Given the description of an element on the screen output the (x, y) to click on. 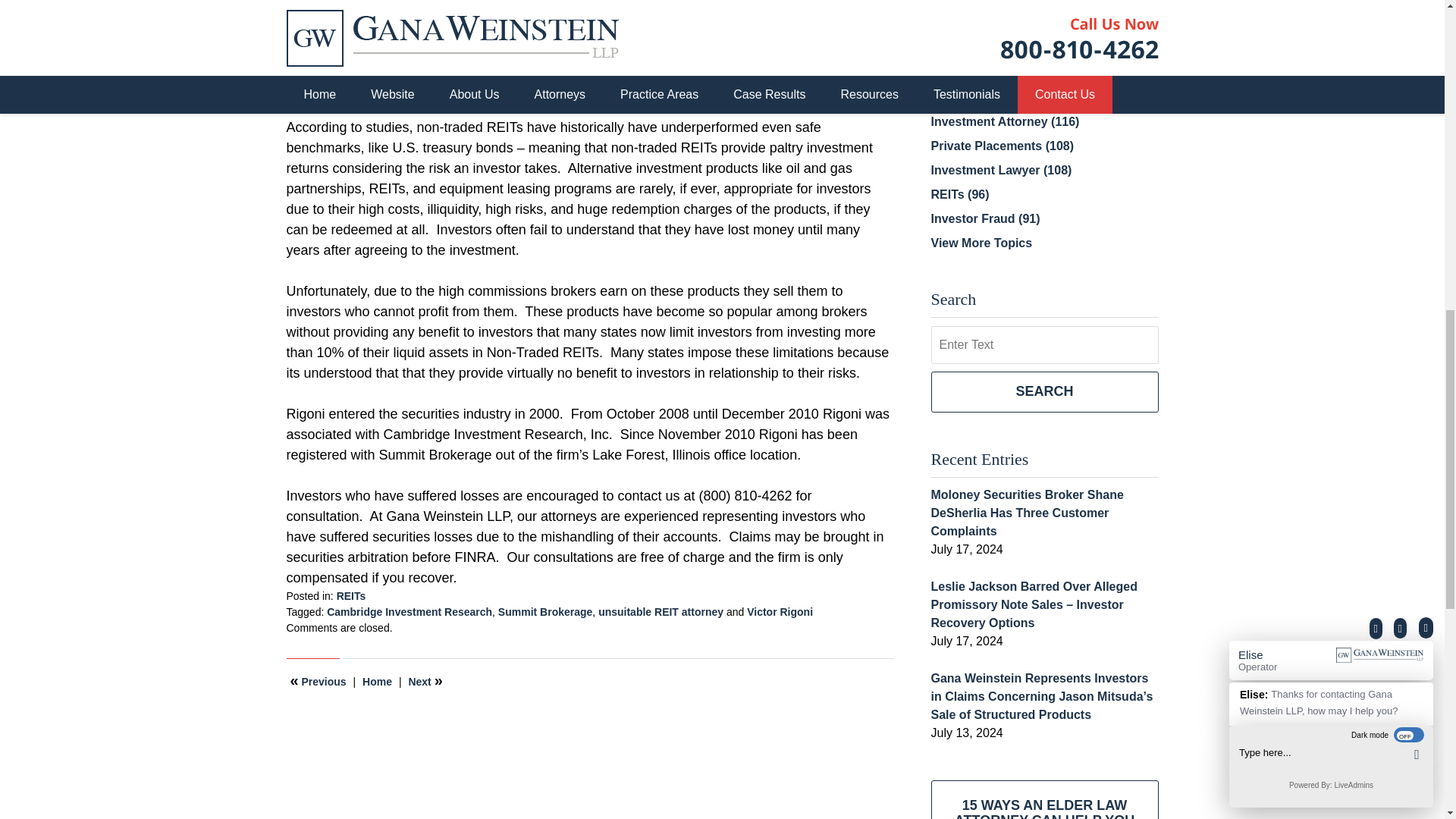
View all posts tagged with Summit Brokerage (544, 612)
REITs (351, 595)
View all posts in REITs (351, 595)
View all posts tagged with Victor Rigoni (779, 612)
View all posts tagged with Cambridge Investment Research (409, 612)
Universal Life Policy Holders Face Unfair Premium Increases (318, 681)
View all posts tagged with unsuitable REIT attorney (660, 612)
